Given the description of an element on the screen output the (x, y) to click on. 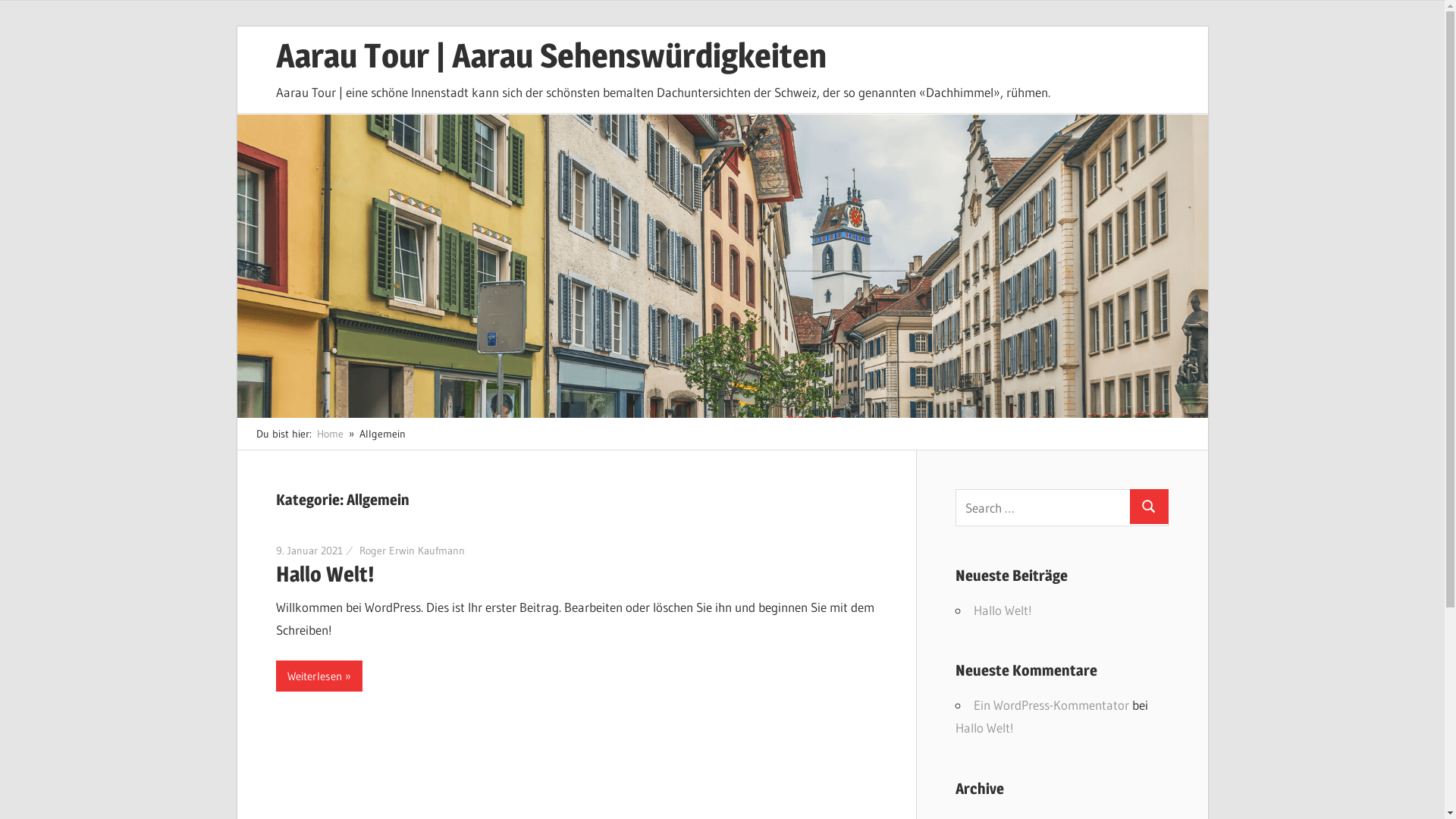
Home Element type: text (329, 433)
Ein WordPress-Kommentator Element type: text (1051, 704)
Roger Erwin Kaufmann Element type: text (411, 550)
Skip to content Element type: text (236, 25)
9. Januar 2021 Element type: text (309, 550)
Hallo Welt! Element type: text (1002, 610)
Weiterlesen Element type: text (319, 675)
Hallo Welt! Element type: text (984, 727)
Search for: Element type: hover (1061, 507)
Hallo Welt! Element type: text (325, 573)
